Given the description of an element on the screen output the (x, y) to click on. 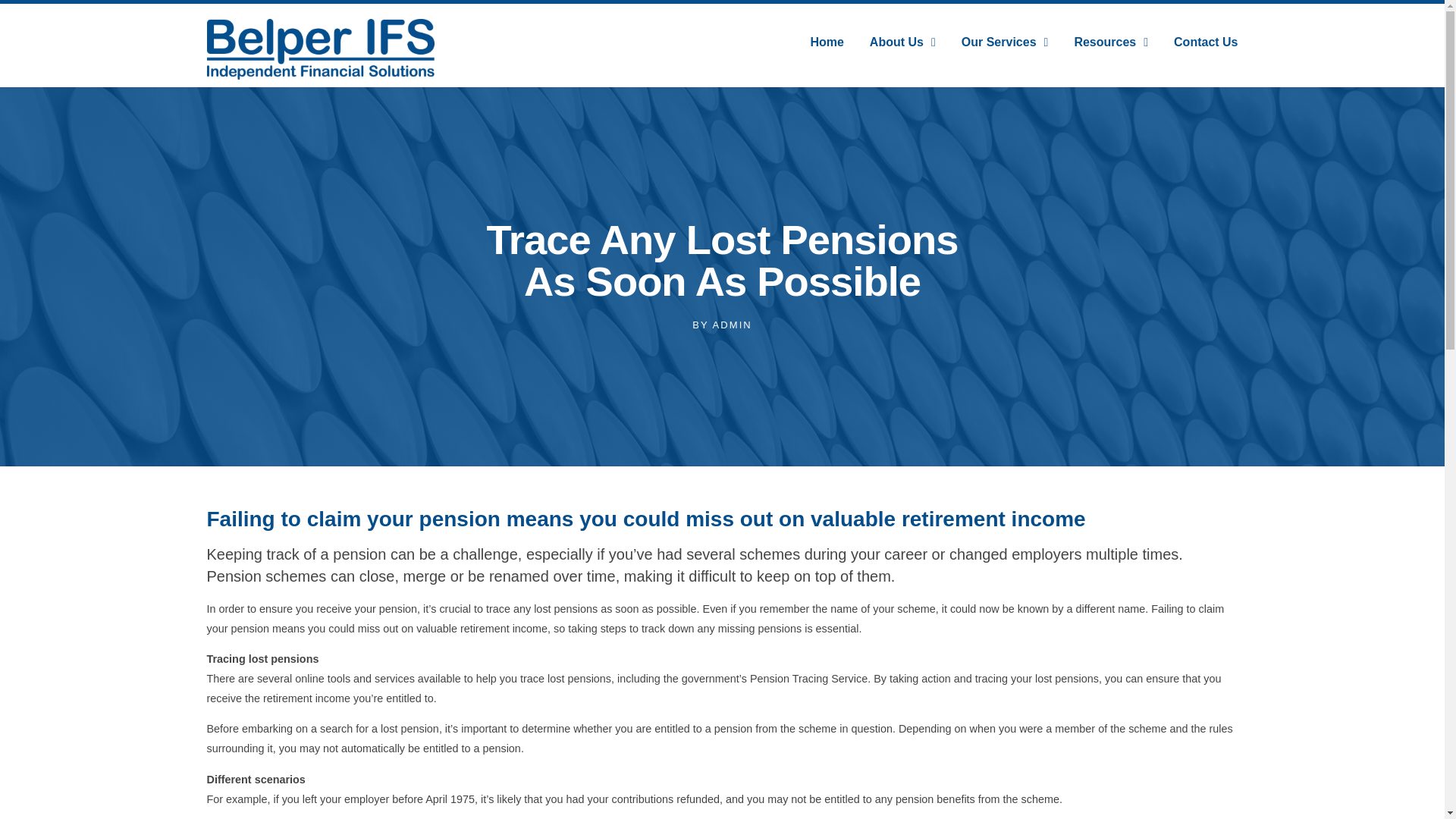
Our Services (1004, 41)
Contact Us (1205, 41)
BY ADMIN (722, 324)
About Us (902, 41)
Resources (1111, 41)
